Given the description of an element on the screen output the (x, y) to click on. 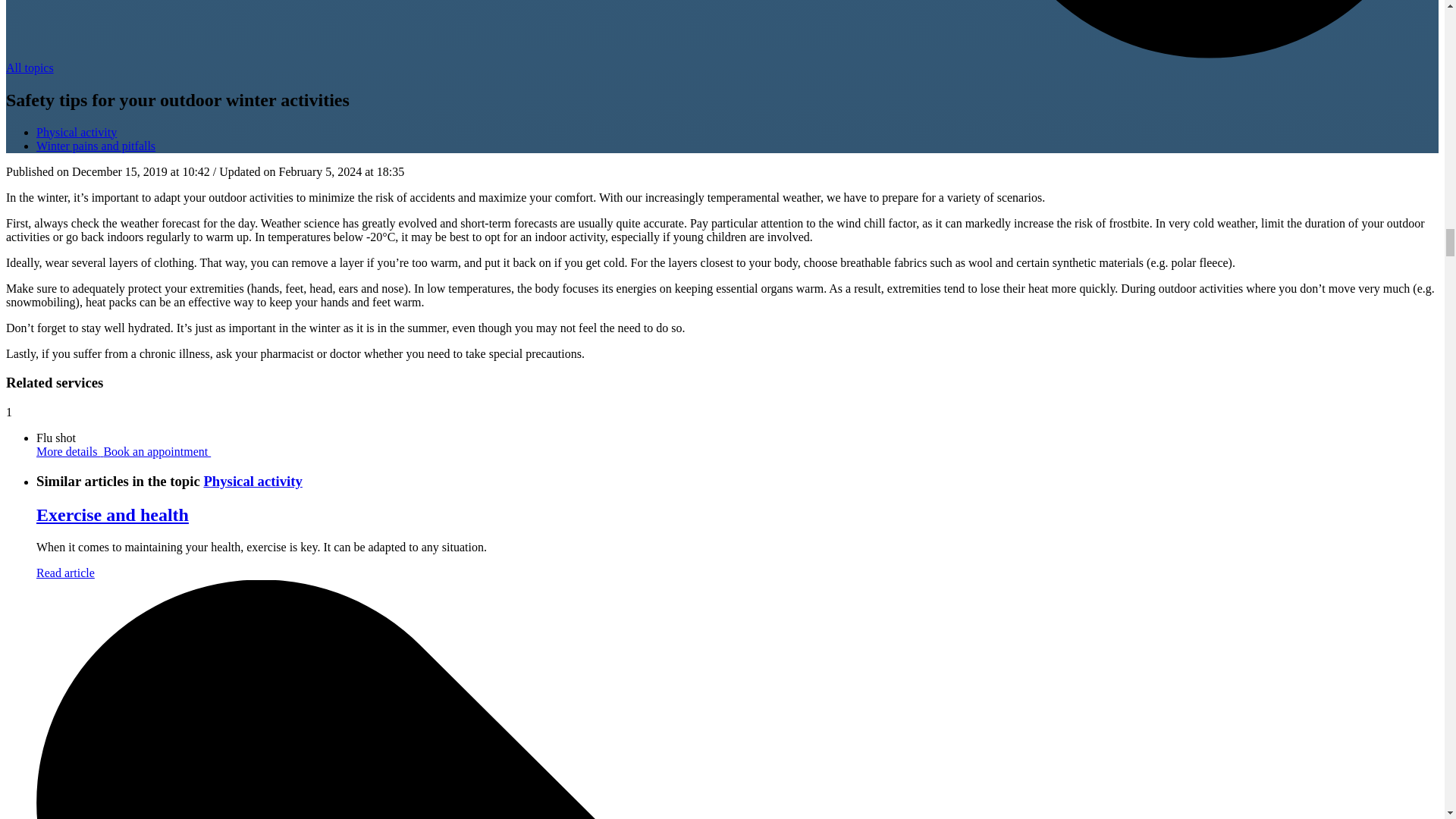
Winter pains and pitfalls (95, 145)
Exercise and health (112, 514)
Physical activity (76, 132)
More details (69, 451)
Book an appointment (157, 451)
Physical activity (252, 480)
